Given the description of an element on the screen output the (x, y) to click on. 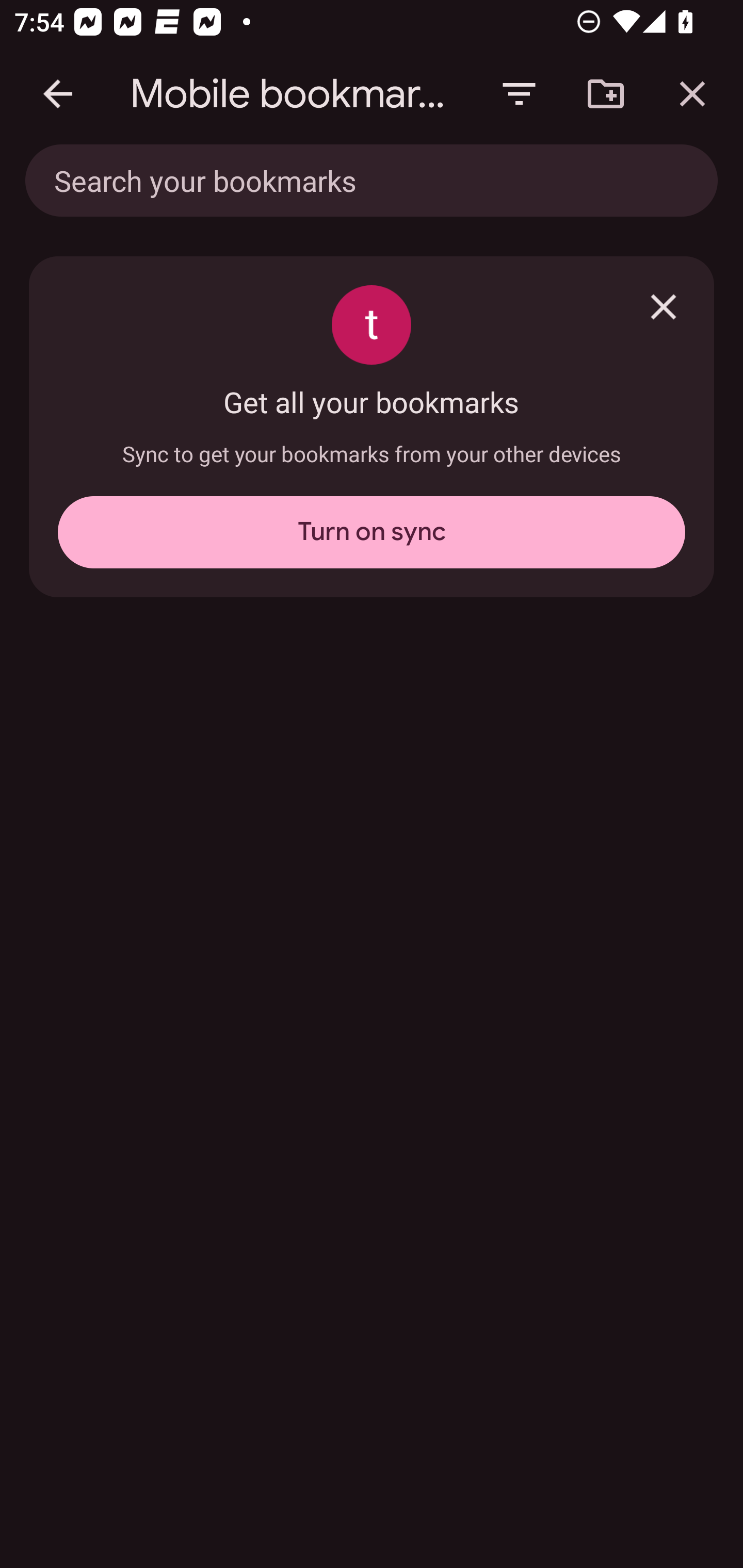
Go back (57, 93)
Sort and view options (518, 93)
Create new folder (605, 93)
Close dialog (692, 93)
Search your bookmarks (327, 180)
Close (663, 306)
Turn on sync (371, 532)
